Given the description of an element on the screen output the (x, y) to click on. 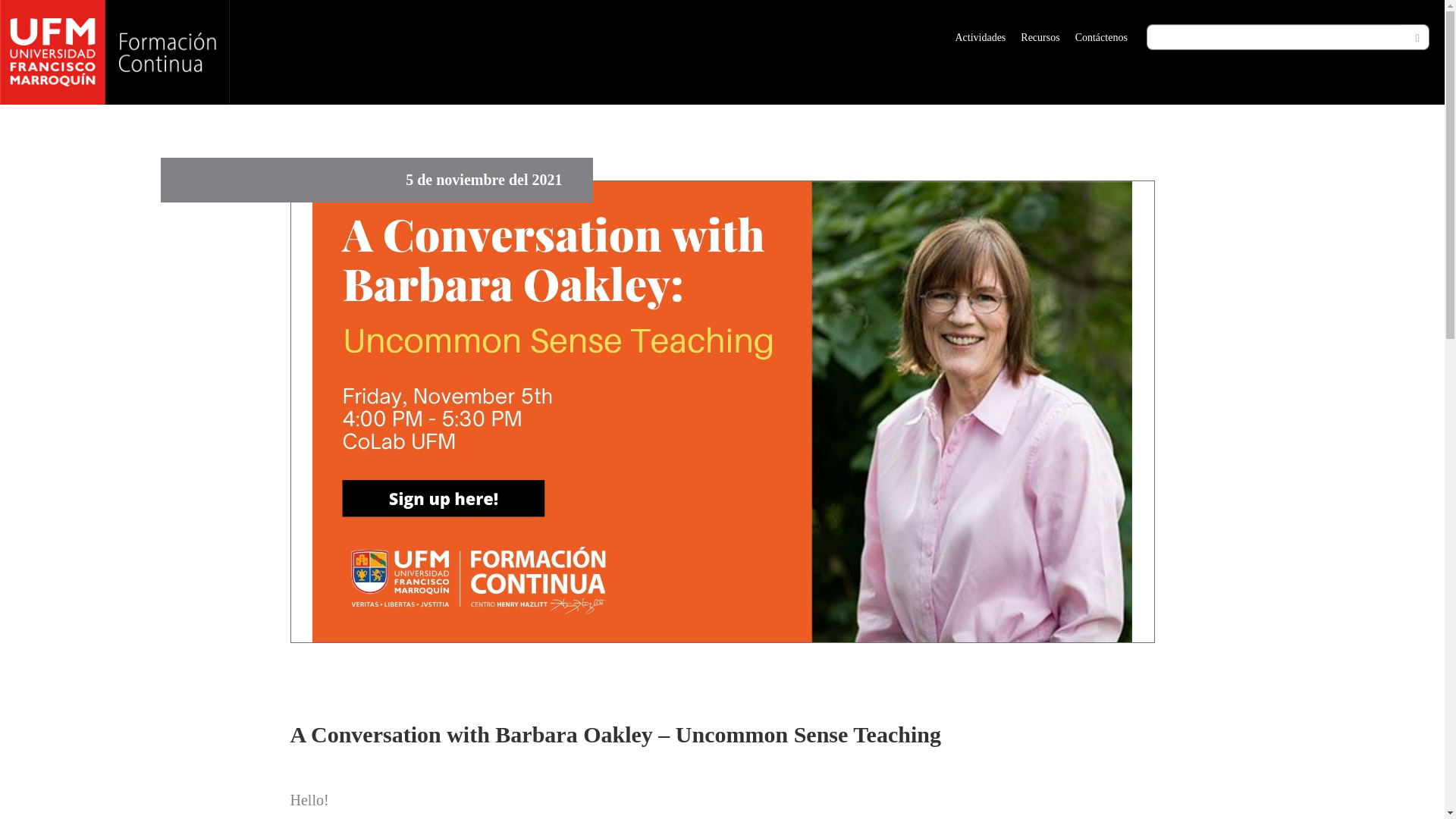
Actividades (980, 37)
Recursos (1040, 37)
